Given the description of an element on the screen output the (x, y) to click on. 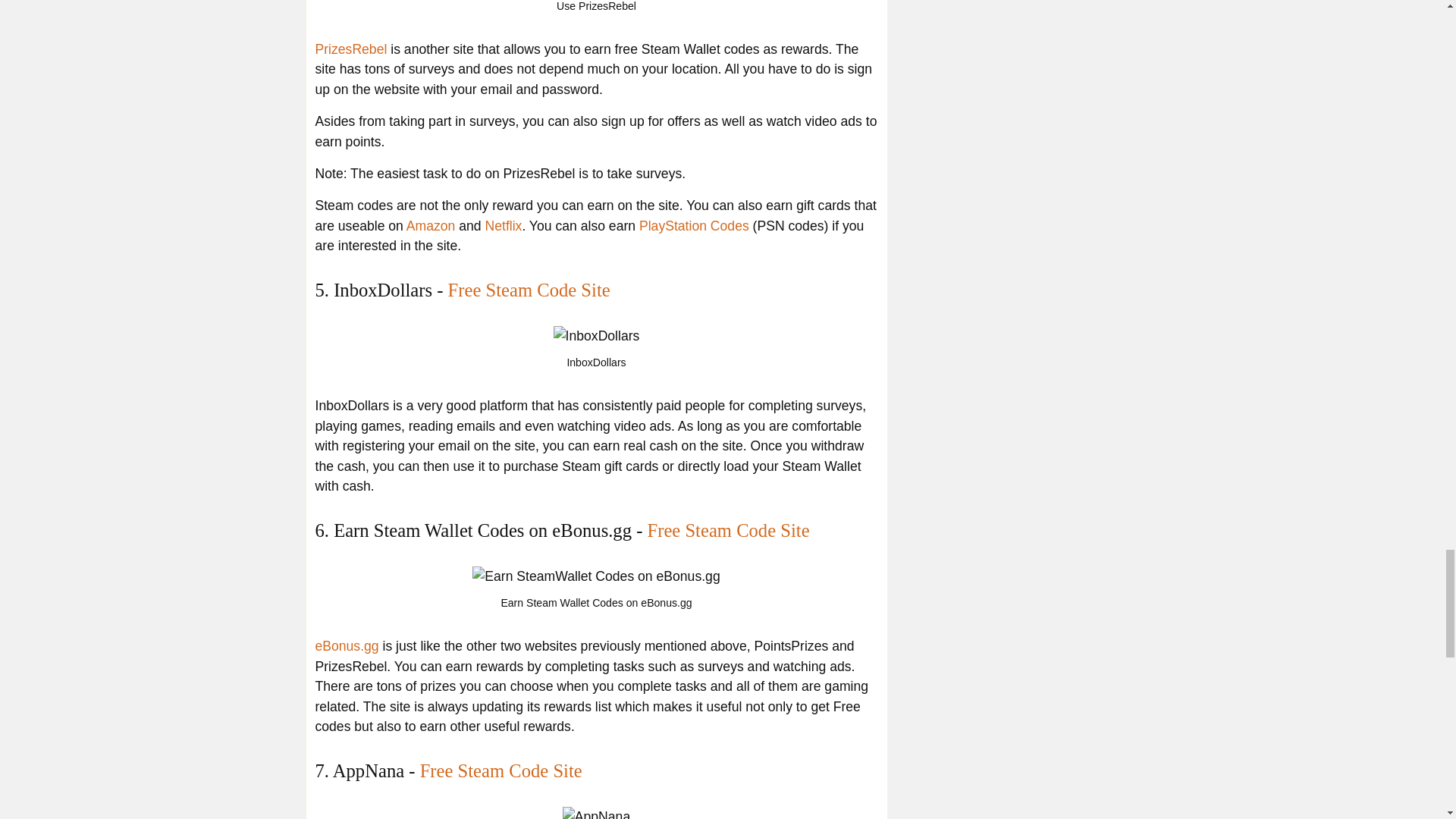
Amazon (430, 225)
Netflix (503, 225)
PrizesRebel (351, 48)
Free Steam Code Site (728, 530)
PlayStation Codes (694, 225)
Free Steam Code Site (529, 290)
